Given the description of an element on the screen output the (x, y) to click on. 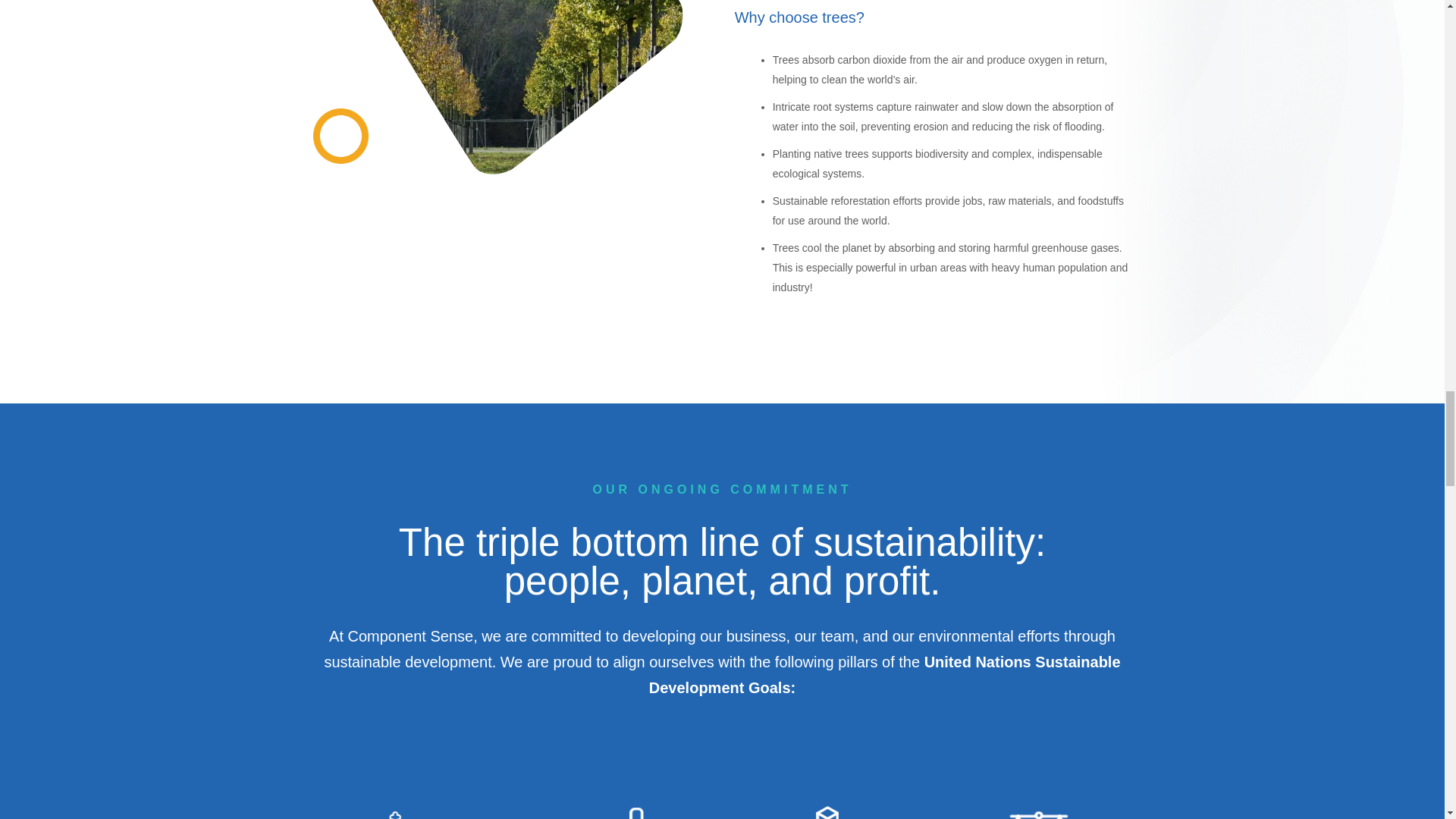
Spring Trees (511, 88)
Yellow ring (340, 135)
